Given the description of an element on the screen output the (x, y) to click on. 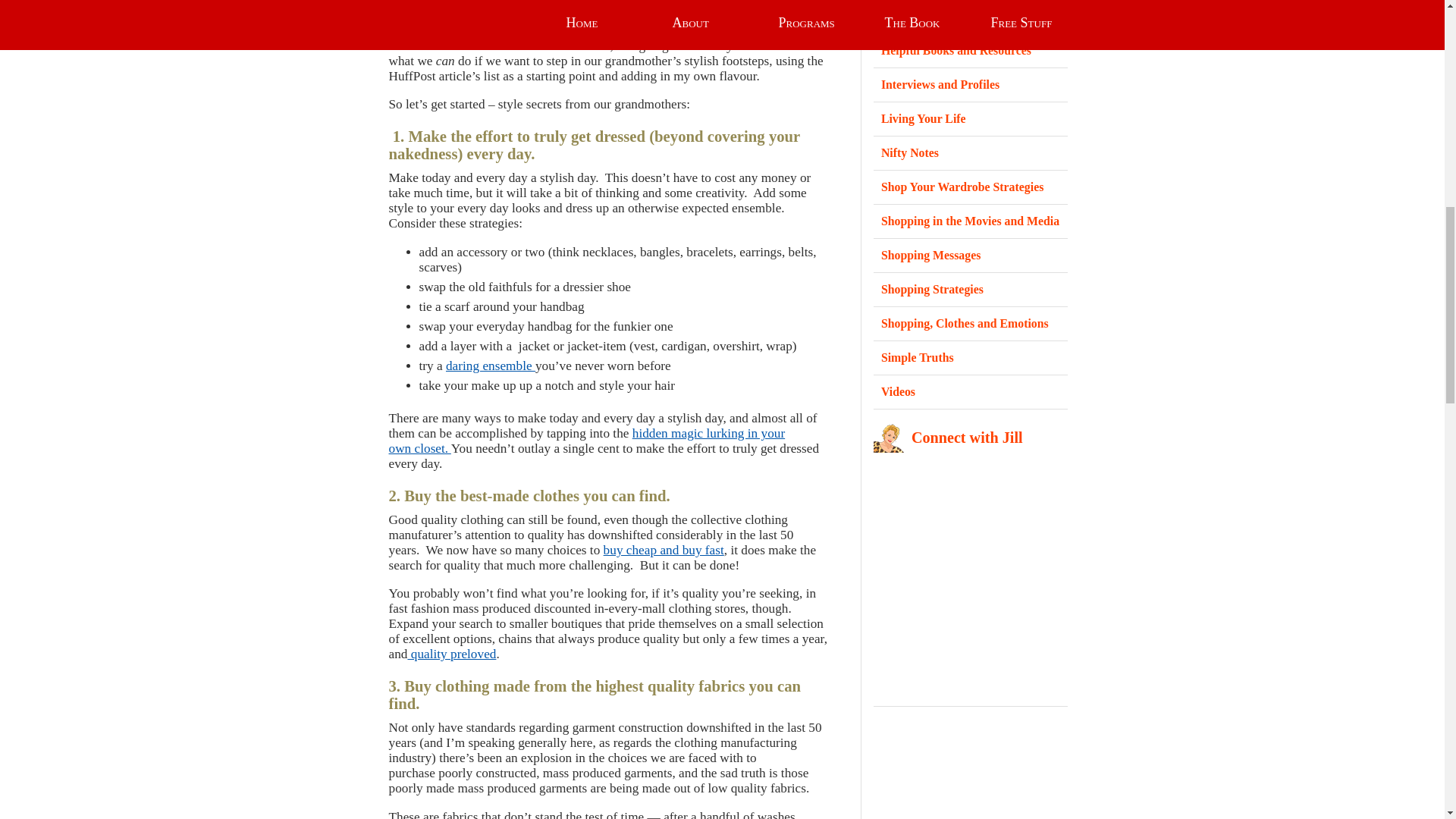
daring ensemble (490, 365)
hidden magic lurking in your own closet. (586, 440)
quality preloved (451, 653)
buy cheap and buy fast (663, 549)
